Given the description of an element on the screen output the (x, y) to click on. 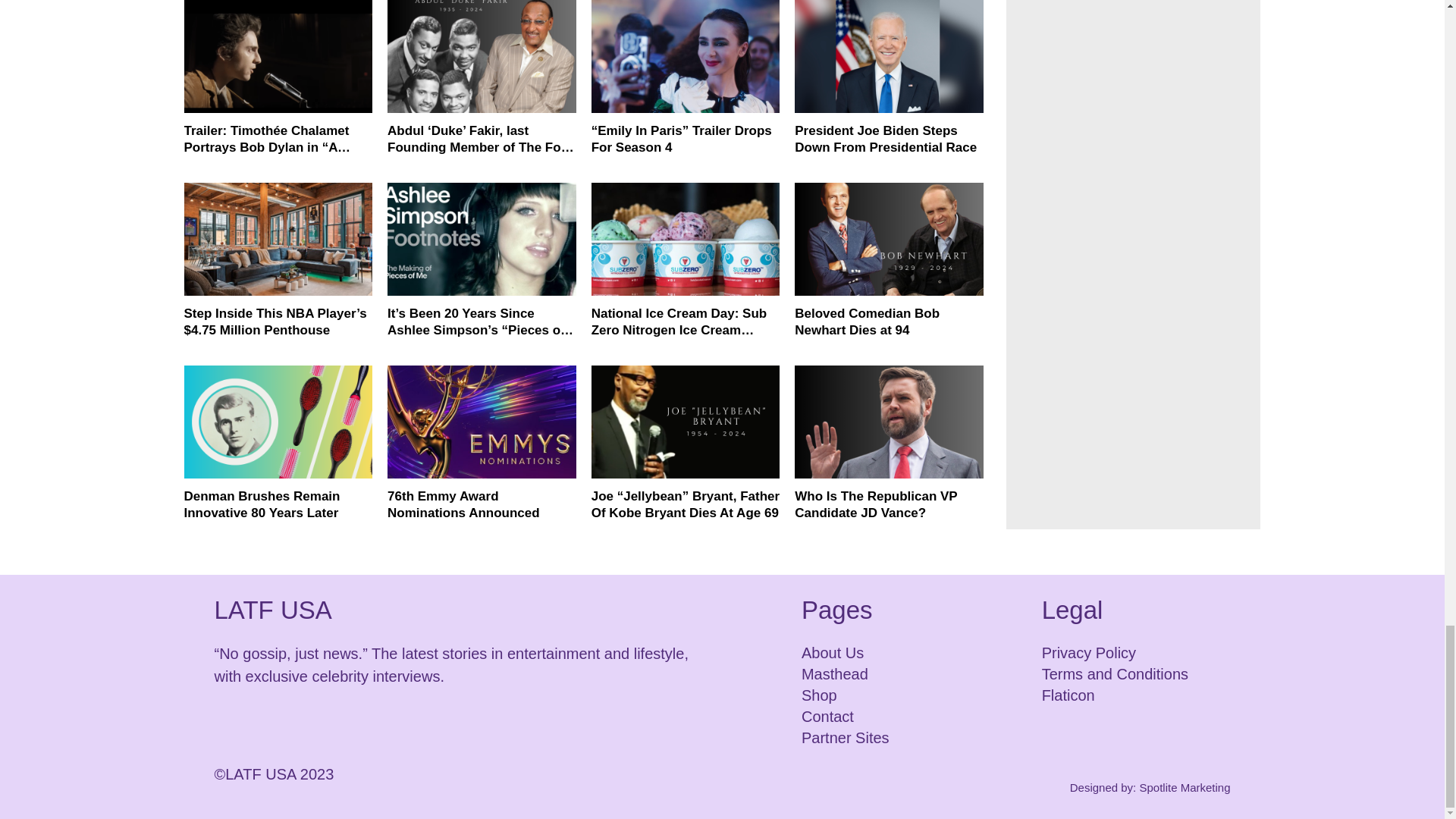
nba player penthouse boston (277, 238)
jd vance (889, 421)
Bob Newhart (889, 238)
president joe biden (889, 56)
denman brushes, hair brushes (277, 421)
Joe Jellybean Bryant (685, 421)
timothee chalamet, bob dylan (277, 56)
